Given the description of an element on the screen output the (x, y) to click on. 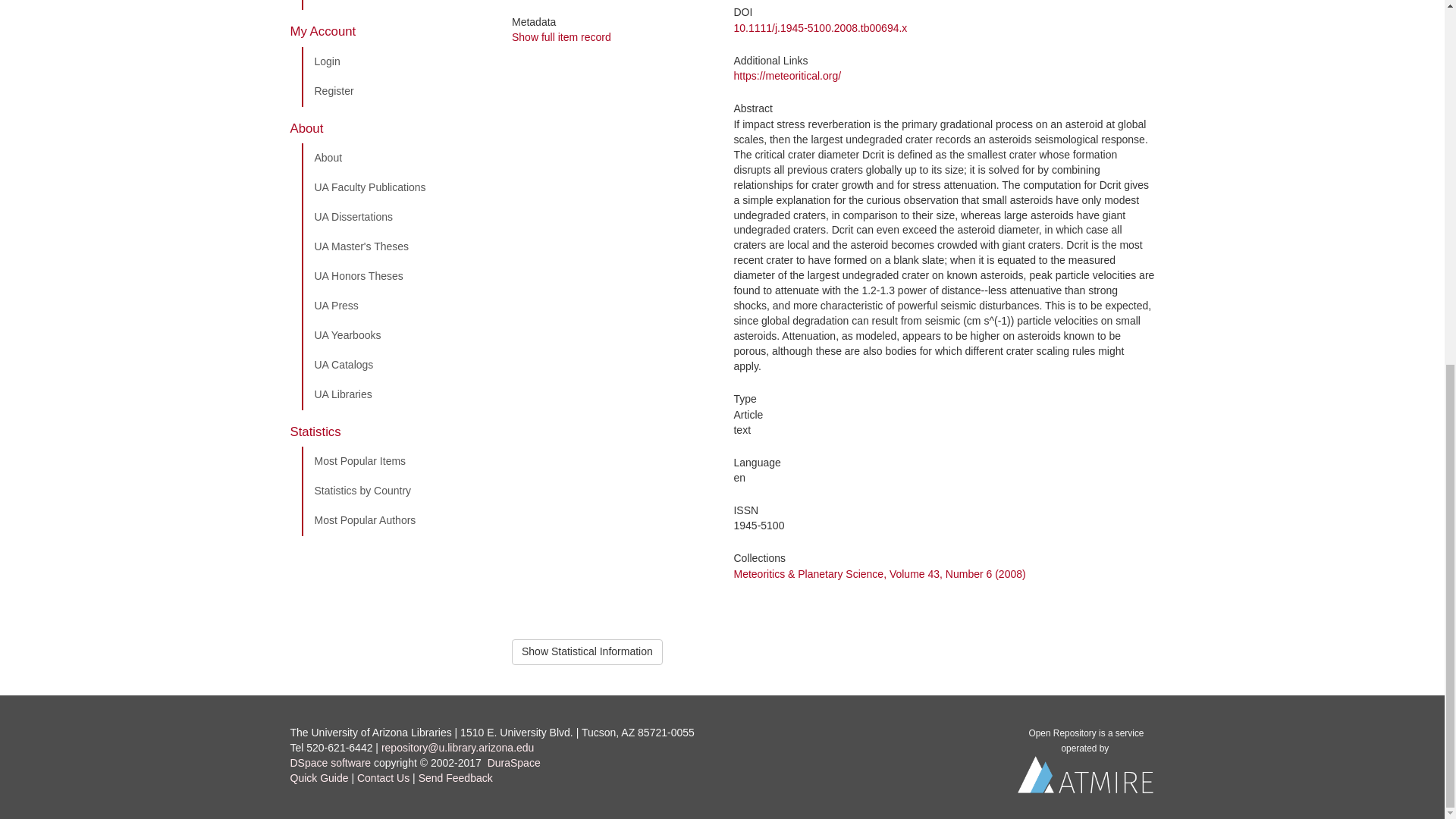
UA Faculty Publications (395, 187)
About (395, 158)
UA Dissertations (395, 217)
Login (395, 61)
Atmire NV (1085, 778)
UA Master's Theses (395, 246)
Register (395, 91)
Journal (395, 4)
